Given the description of an element on the screen output the (x, y) to click on. 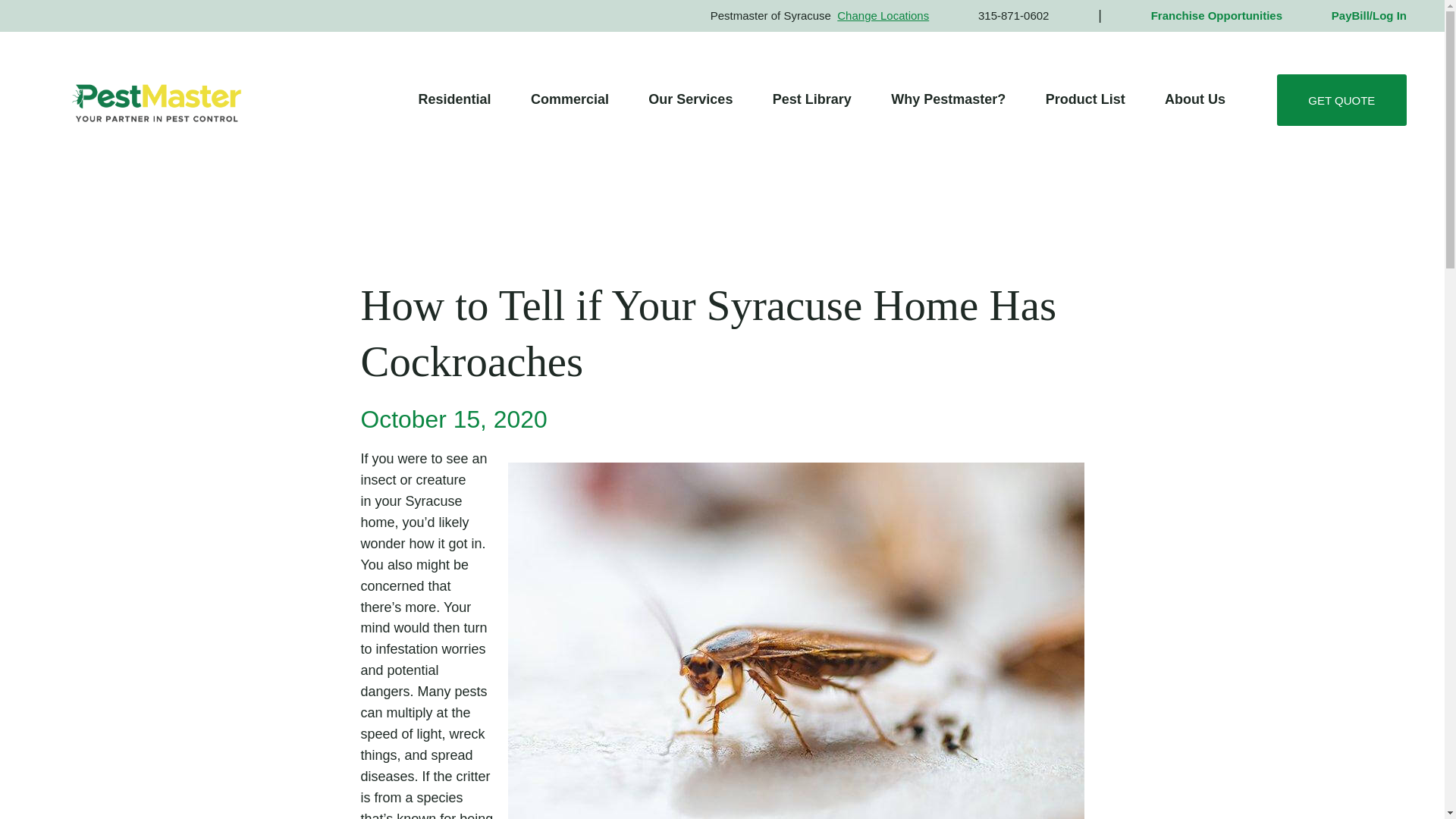
Franchise Opportunities (1216, 14)
Pestmaster of Syracuse (156, 99)
Commercial (568, 99)
Open the accessibility options menu (1412, 786)
Our Services (689, 99)
315-871-0602 (1013, 14)
Change Locations (882, 15)
Residential (453, 99)
